Given the description of an element on the screen output the (x, y) to click on. 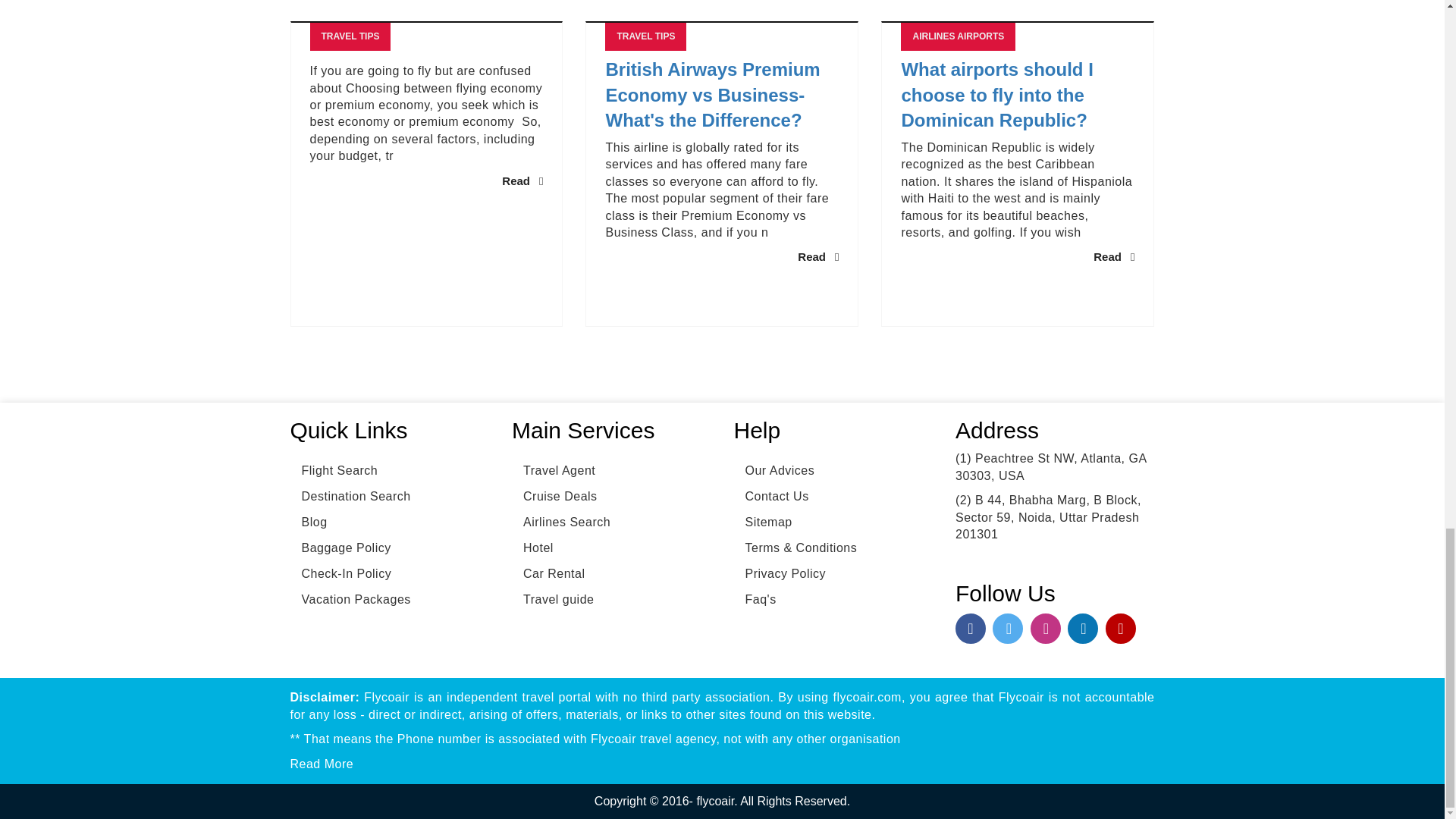
Destination Search (349, 496)
Baggage Policy (339, 547)
Read (1113, 256)
Blog (307, 522)
Read (522, 180)
Vacation Packages (349, 599)
Read (817, 256)
Travel Agent (553, 470)
Flight Search (333, 470)
Check-In Policy (340, 574)
